Given the description of an element on the screen output the (x, y) to click on. 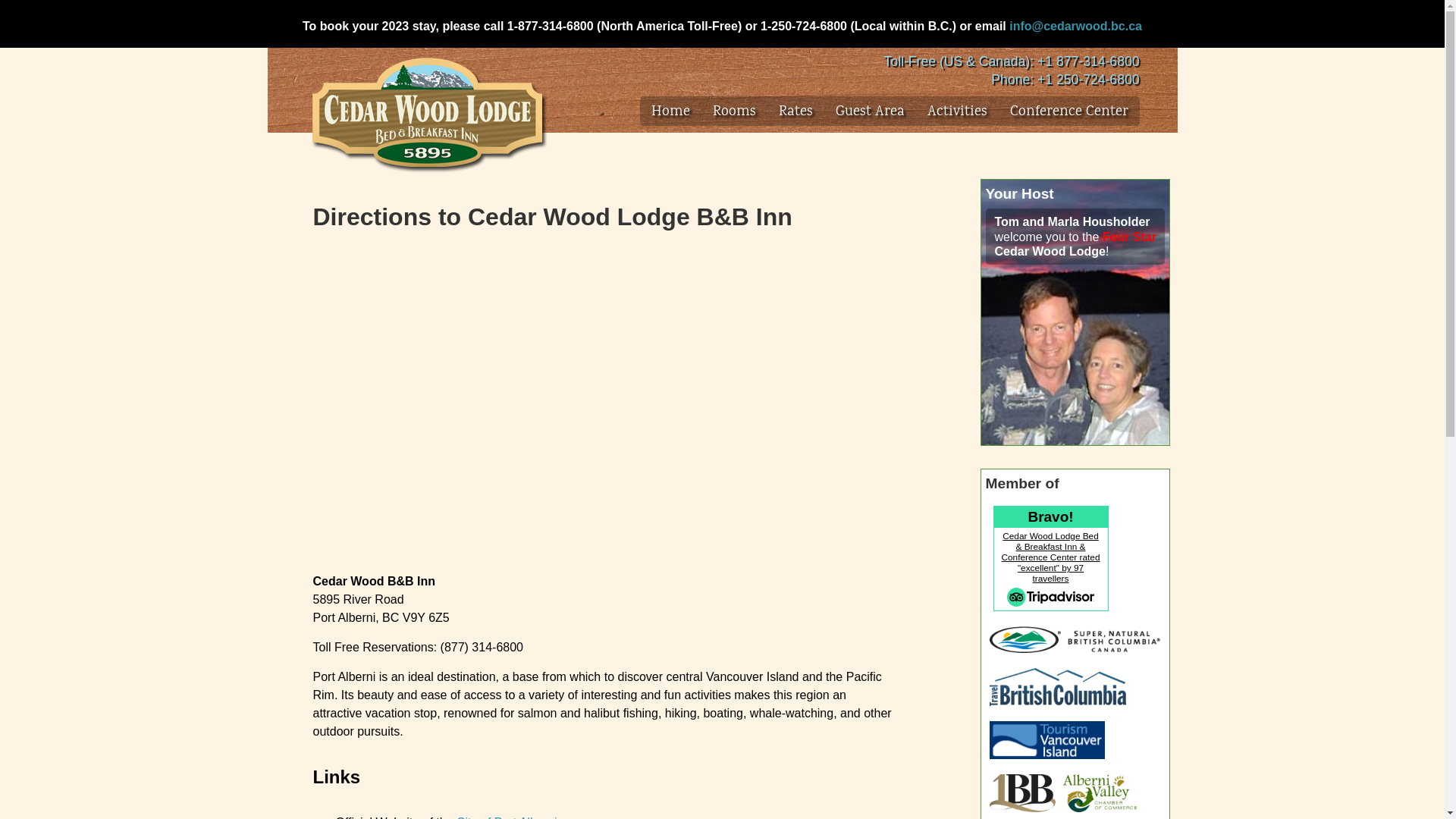
Rates Element type: text (795, 111)
Guest Area Element type: text (869, 111)
info@cedarwood.bc.ca Element type: text (1075, 25)
Rooms Element type: text (734, 111)
Activities Element type: text (956, 111)
Home Element type: hover (426, 112)
Conference Center Element type: text (1069, 111)
Home Element type: text (669, 111)
Jump to navigation Element type: text (722, 2)
